Given the description of an element on the screen output the (x, y) to click on. 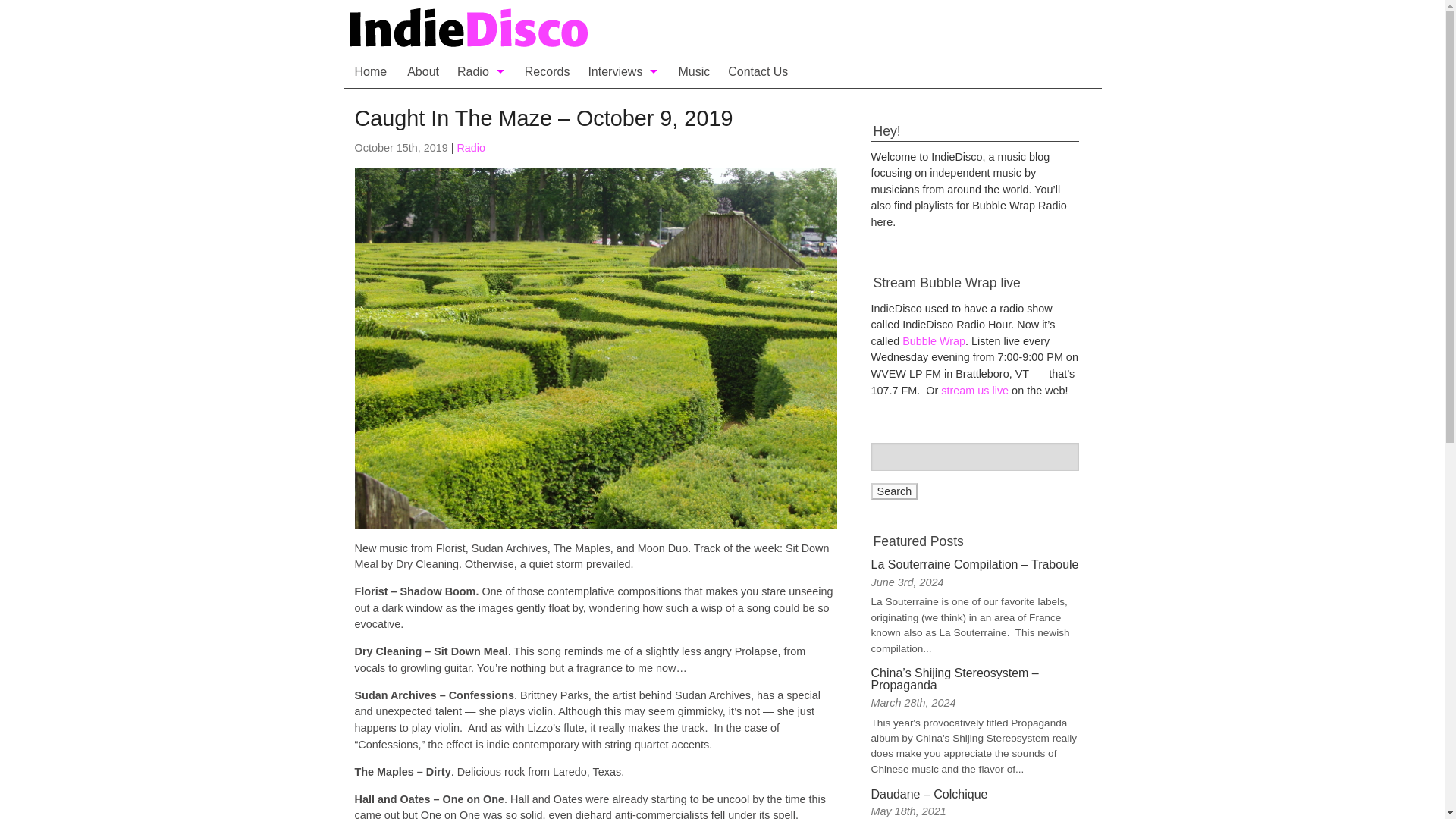
Search (894, 491)
Interviews (623, 70)
100 Miles of Indie (623, 137)
About (422, 70)
Records (547, 70)
stream us live (974, 390)
Interviews (623, 104)
Home (369, 70)
Music (693, 70)
Home (617, 28)
Contact Us (757, 70)
Radio (470, 147)
Search (894, 491)
Radio (481, 70)
Playlists and Commentary (481, 137)
